Given the description of an element on the screen output the (x, y) to click on. 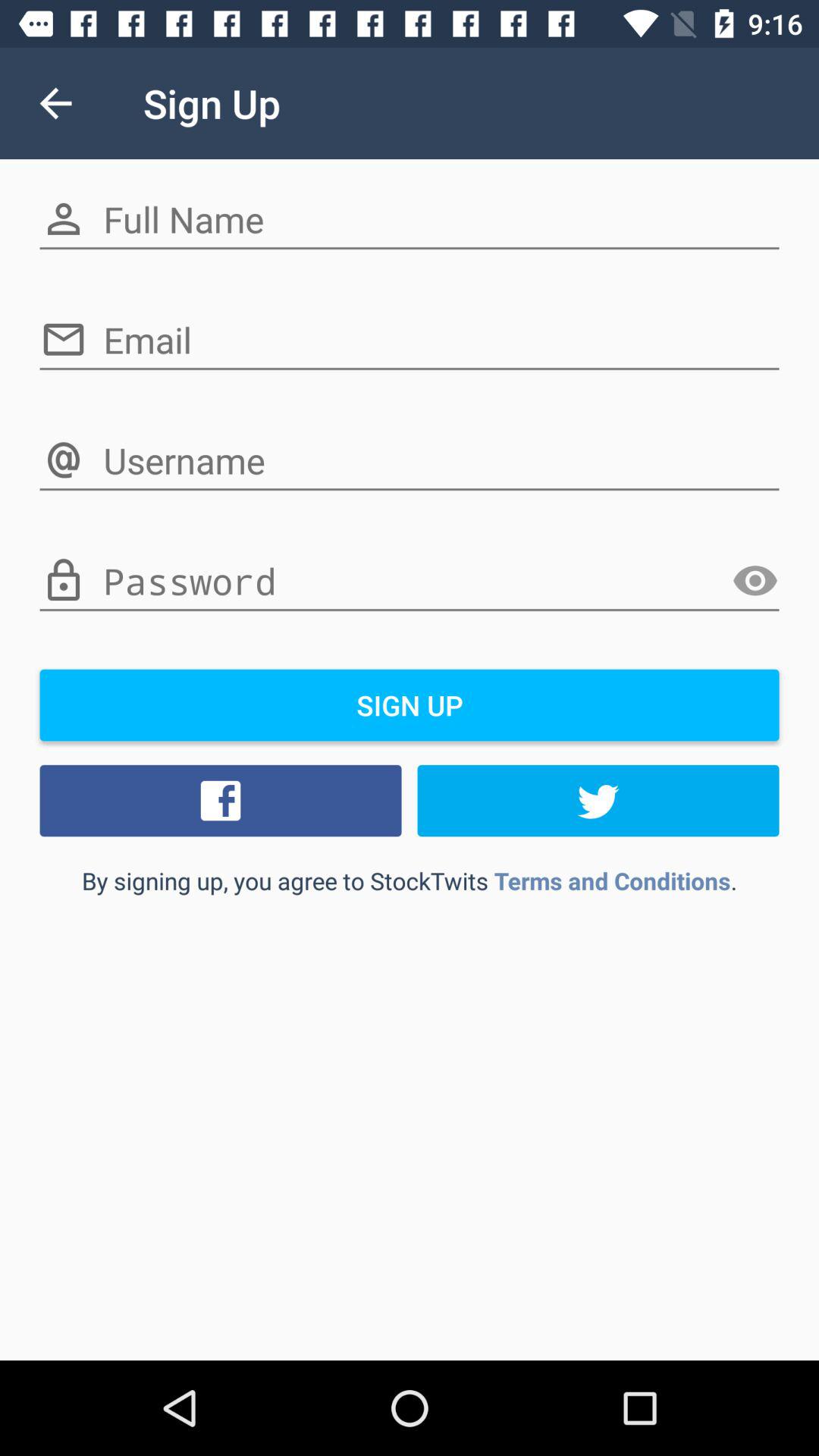
press the item next to sign up item (55, 103)
